Given the description of an element on the screen output the (x, y) to click on. 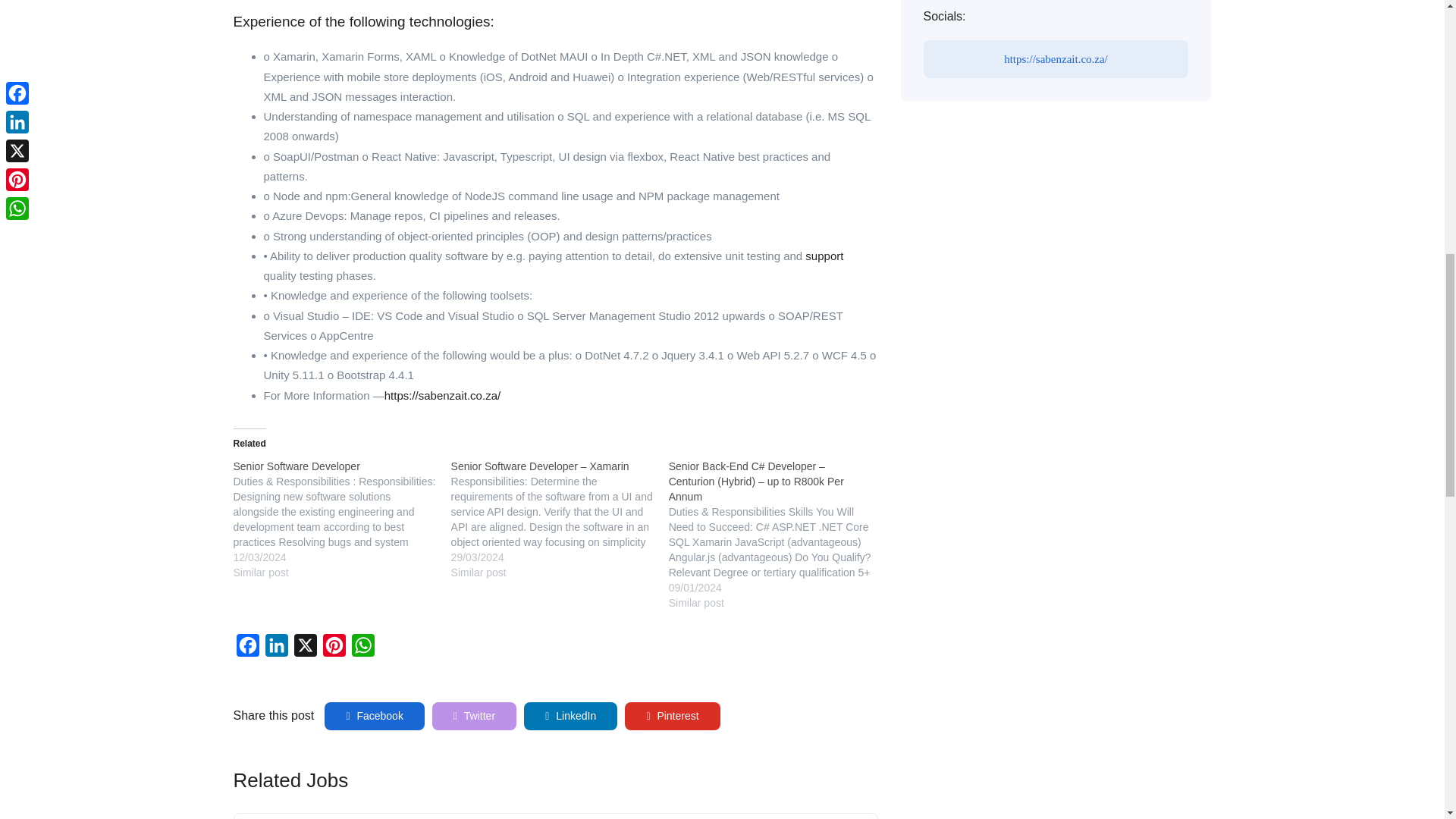
Senior Software Developer (295, 466)
Senior Software Developer (341, 518)
Facebook (247, 648)
